Given the description of an element on the screen output the (x, y) to click on. 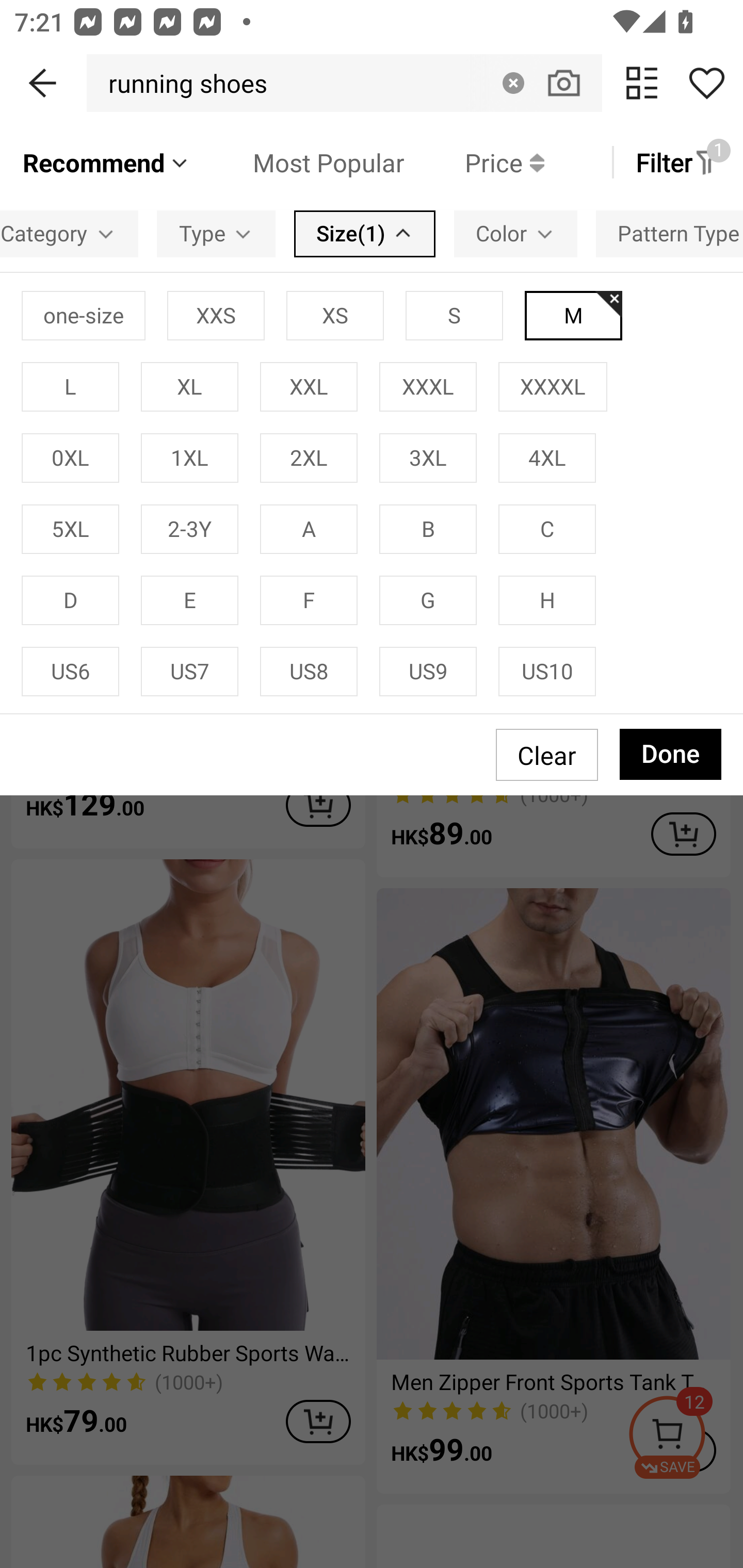
running shoes Clear (343, 82)
running shoes (181, 82)
Clear (513, 82)
change view (641, 82)
Share (706, 82)
Recommend (106, 162)
Most Popular (297, 162)
Price (474, 162)
Filter 1 (677, 162)
Category (69, 233)
Type (215, 233)
Size(1) (364, 233)
Color (515, 233)
Pattern Type (669, 233)
